Given the description of an element on the screen output the (x, y) to click on. 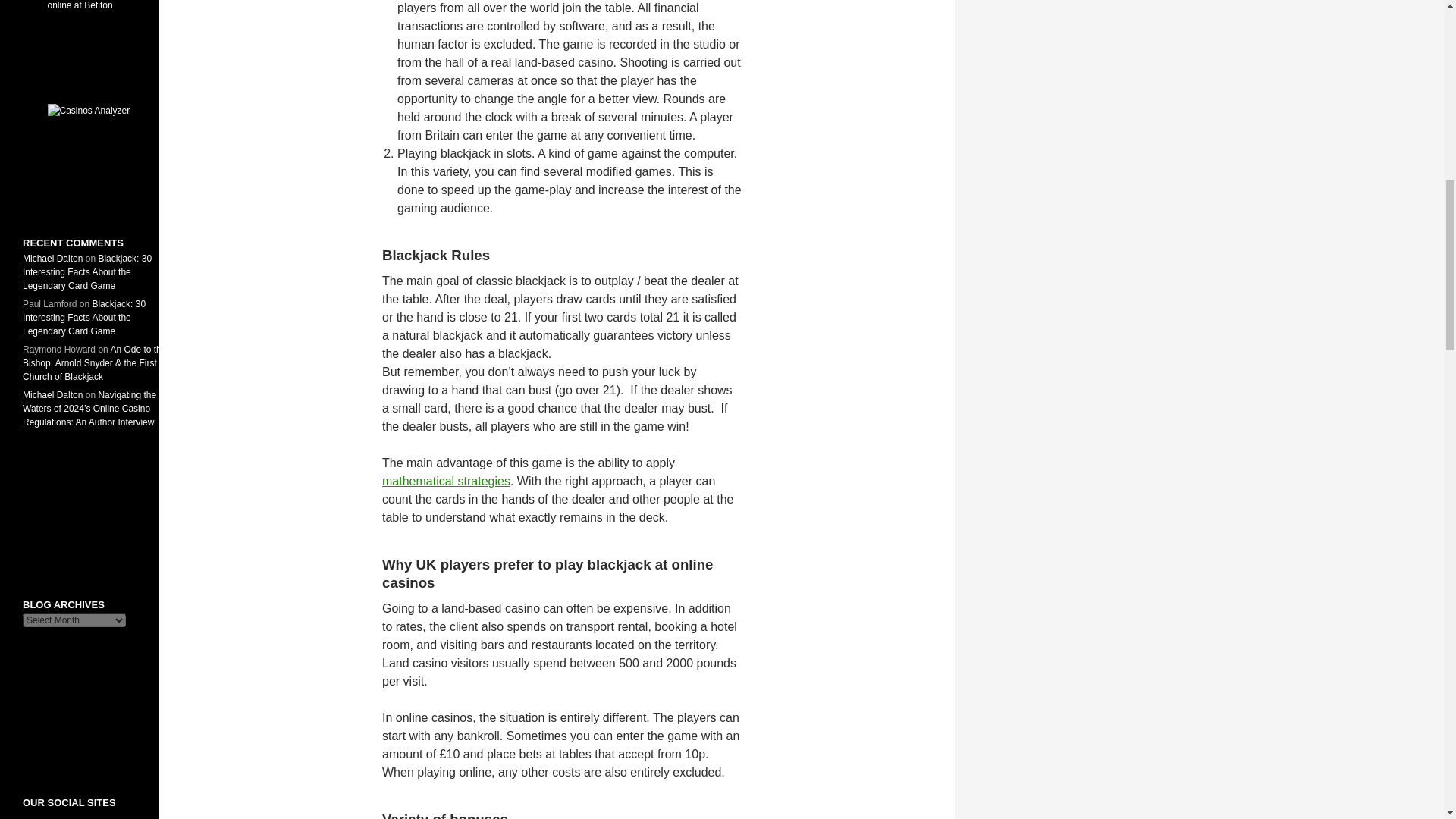
Mastodon (89, 816)
Play blackjack online at Betiton (93, 39)
Twitter (52, 816)
Facebook (32, 816)
Casinos Analyzer (93, 151)
Mastodon (89, 816)
Pinterest (71, 816)
no deposit bonus casinos (93, 513)
